Given the description of an element on the screen output the (x, y) to click on. 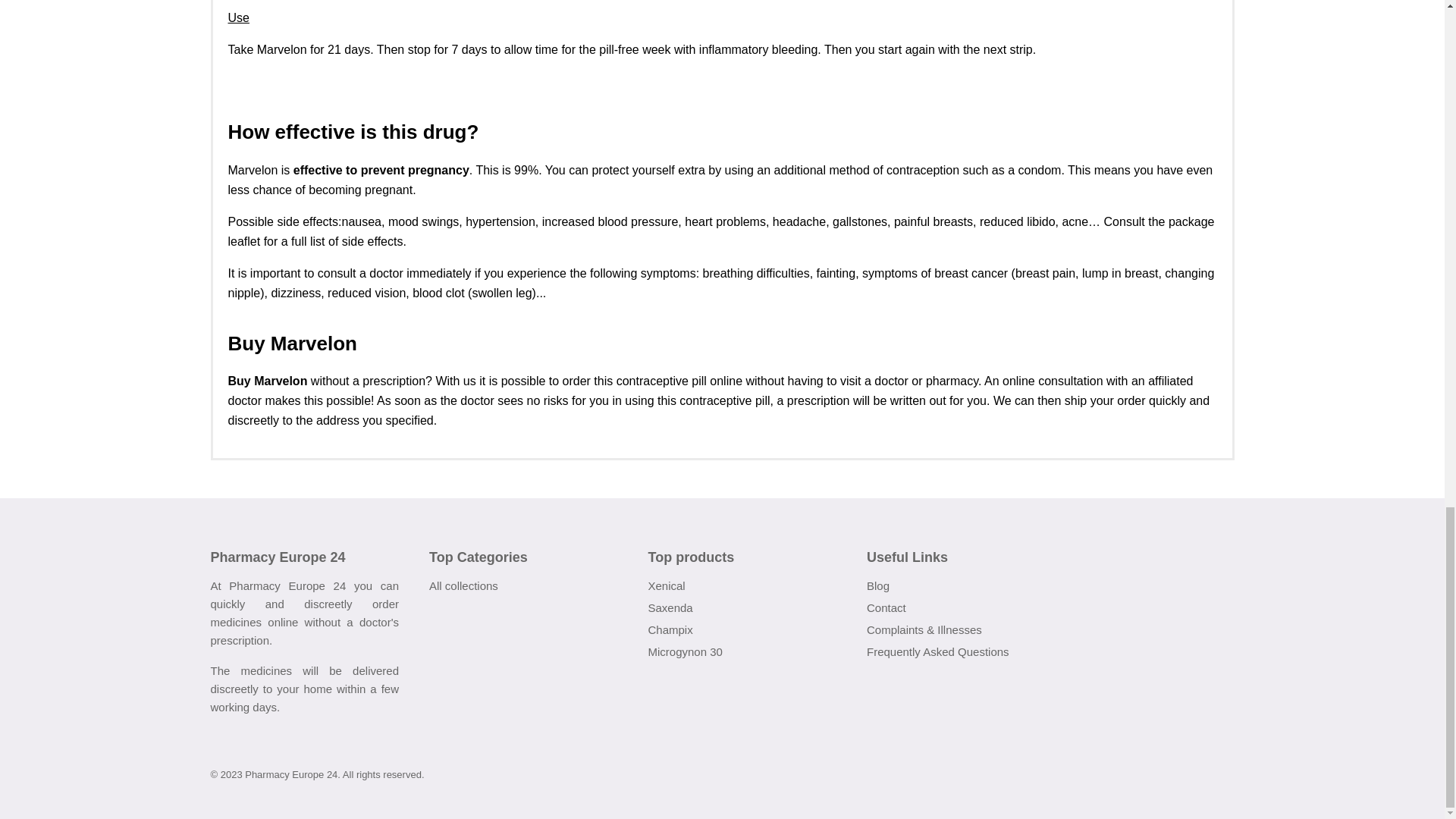
All collections (463, 585)
Champix (670, 629)
Microgynon 30 (684, 651)
Contact (885, 607)
Blog (877, 585)
Frequently Asked Questions (937, 651)
Saxenda (670, 607)
Xenical (665, 585)
